Given the description of an element on the screen output the (x, y) to click on. 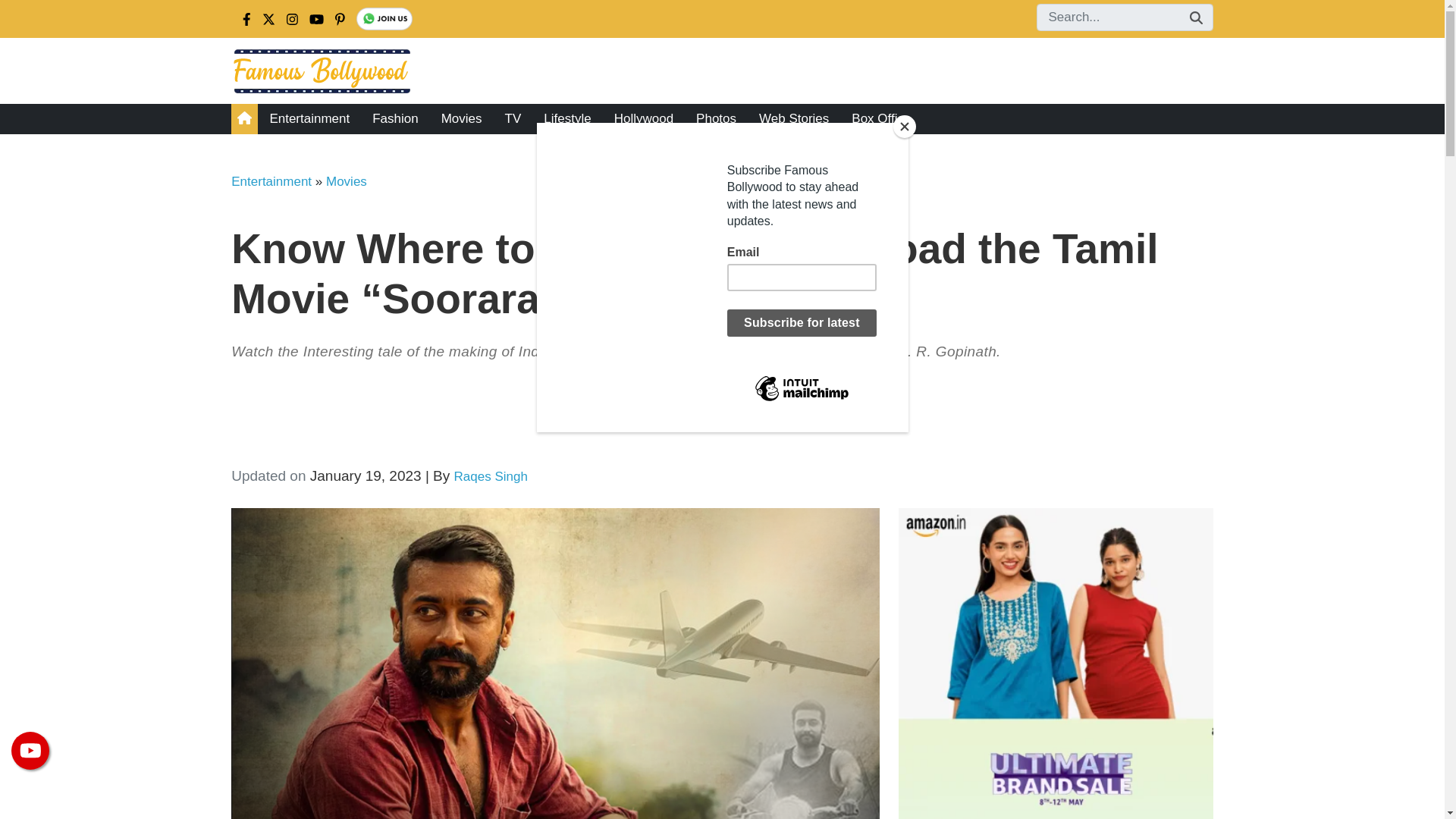
Box Office (880, 118)
Entertainment (309, 118)
Movies (461, 118)
Search for: (1123, 17)
Lifestyle (567, 118)
Raqes Singh (490, 476)
Photos (716, 118)
Fashion (395, 118)
Advertisement (686, 418)
TV (512, 118)
Hollywood (643, 118)
Entertainment (271, 181)
Movies (346, 181)
Web Stories (794, 118)
